Given the description of an element on the screen output the (x, y) to click on. 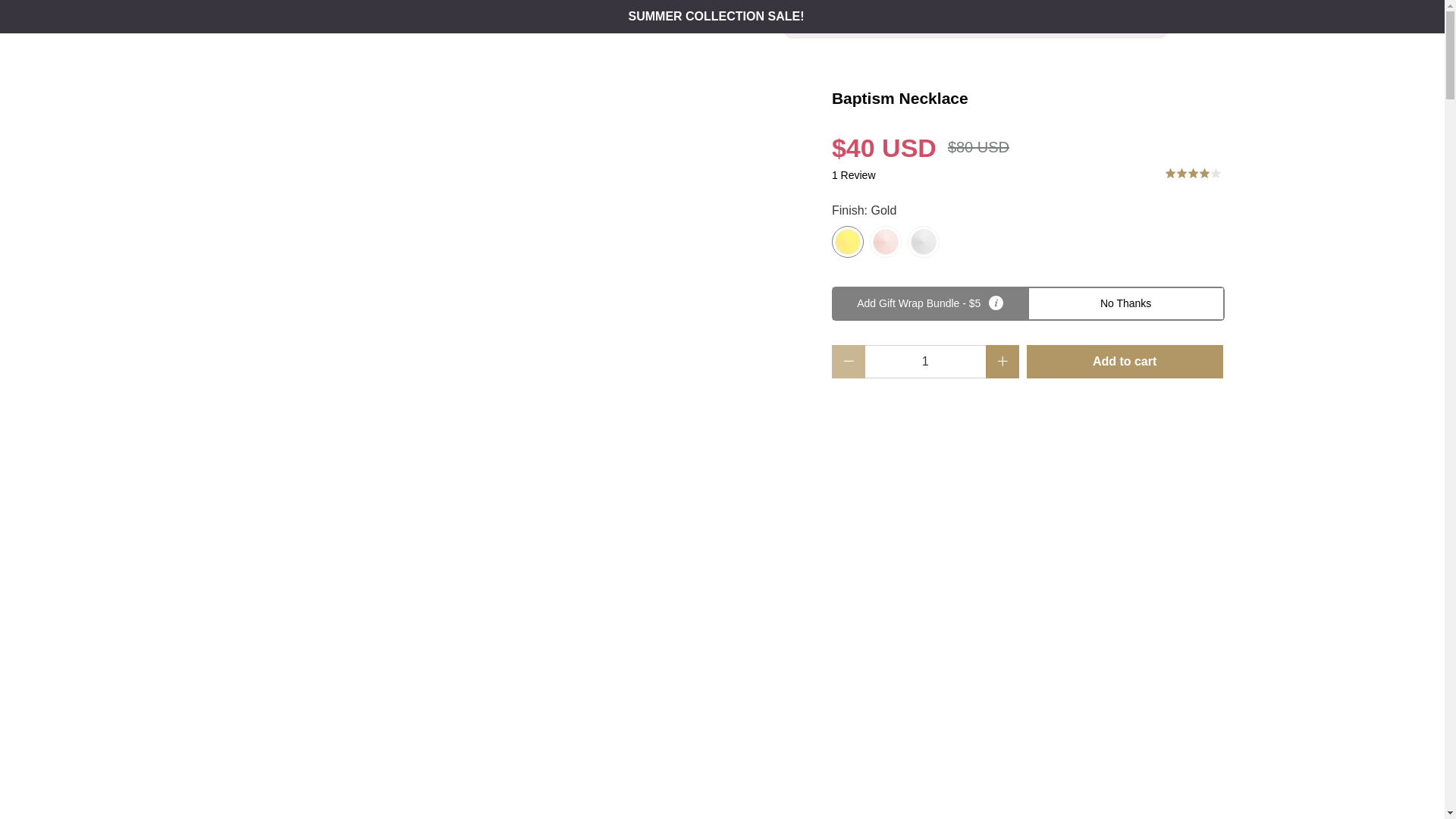
OCCASIONS (567, 24)
1 (924, 361)
Dear Ava (285, 24)
RECIPIENTS (479, 24)
GIFT TYPE (649, 24)
